Given the description of an element on the screen output the (x, y) to click on. 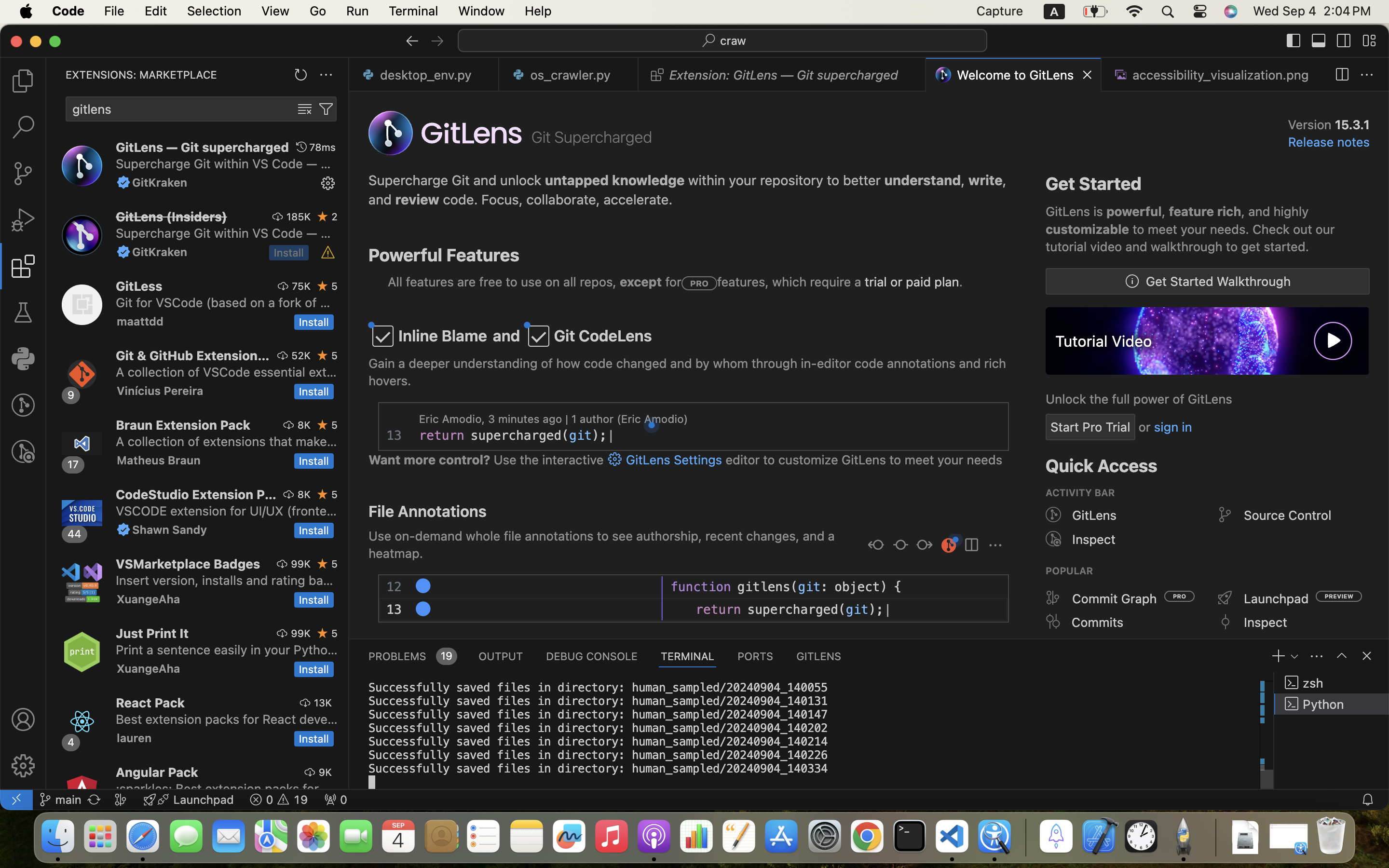
git Element type: AXStaticText (580, 435)
feature rich Element type: AXStaticText (1205, 211)
GitLess Element type: AXStaticText (139, 285)
 Element type: AXStaticText (1224, 514)
return Element type: AXStaticText (441, 435)
